Given the description of an element on the screen output the (x, y) to click on. 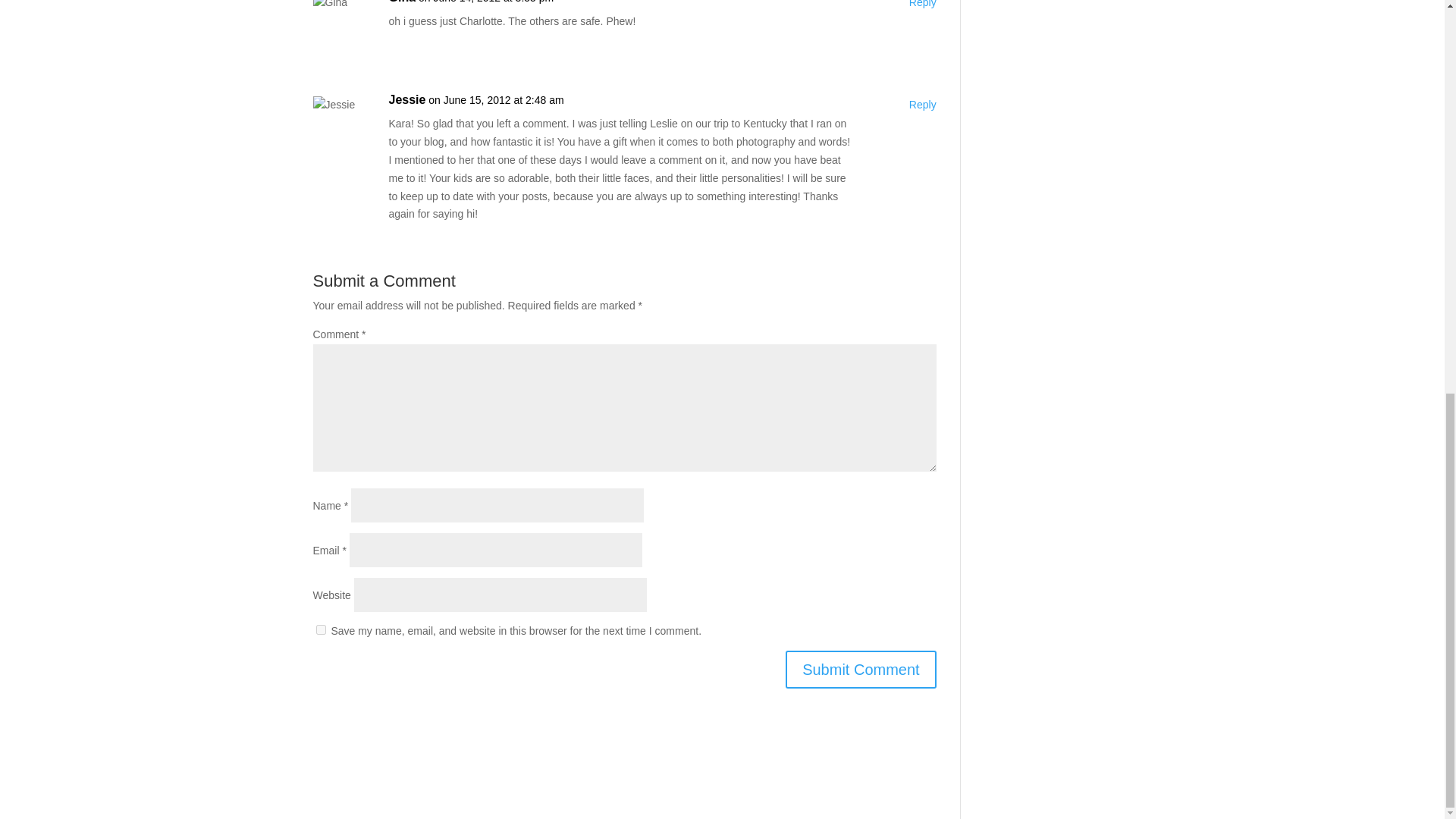
Reply (922, 105)
Gina (401, 3)
Submit Comment (861, 669)
yes (319, 629)
Reply (922, 6)
Jessie (406, 99)
Submit Comment (861, 669)
